Given the description of an element on the screen output the (x, y) to click on. 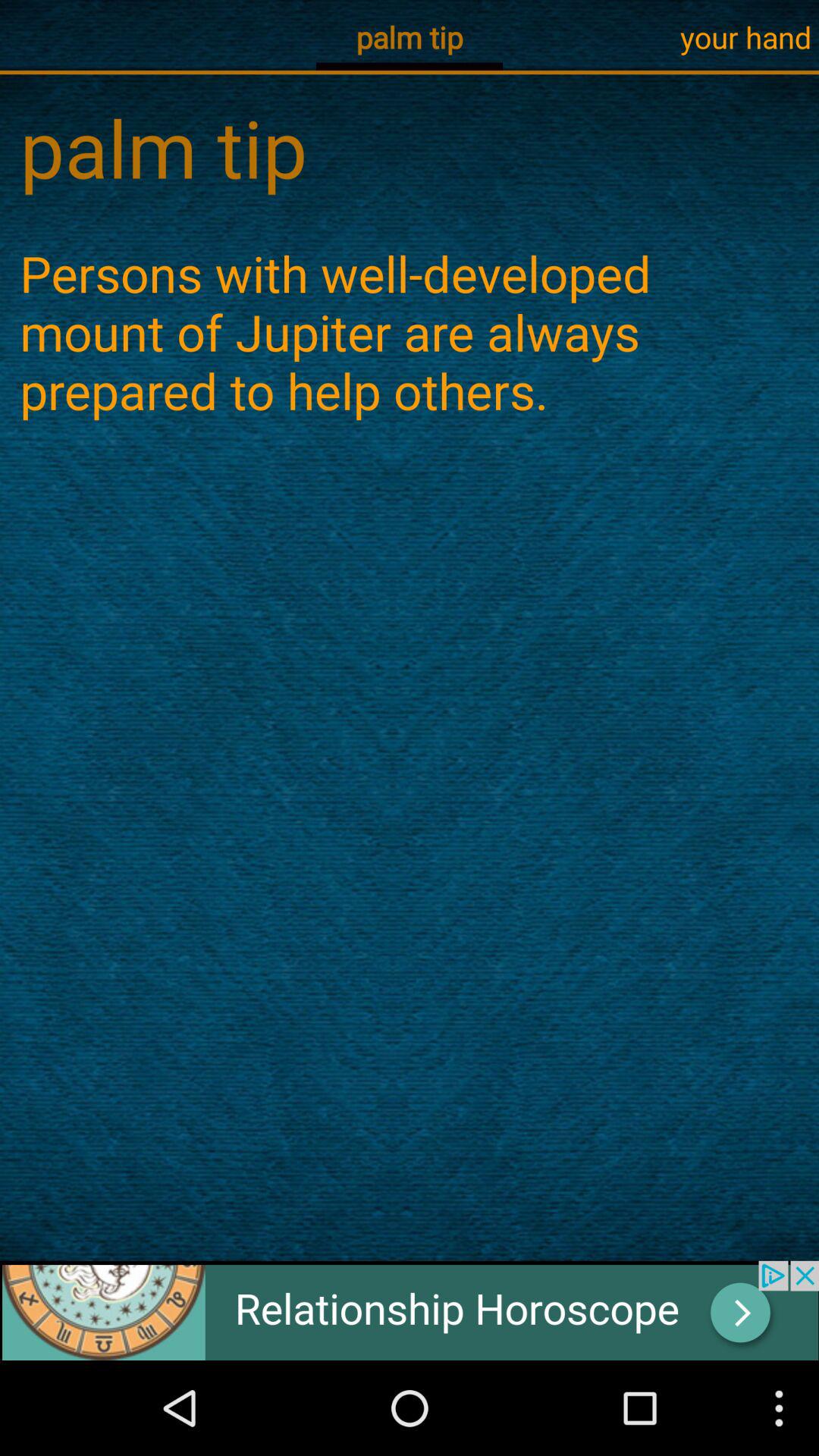
go to advertisement website (409, 1310)
